Given the description of an element on the screen output the (x, y) to click on. 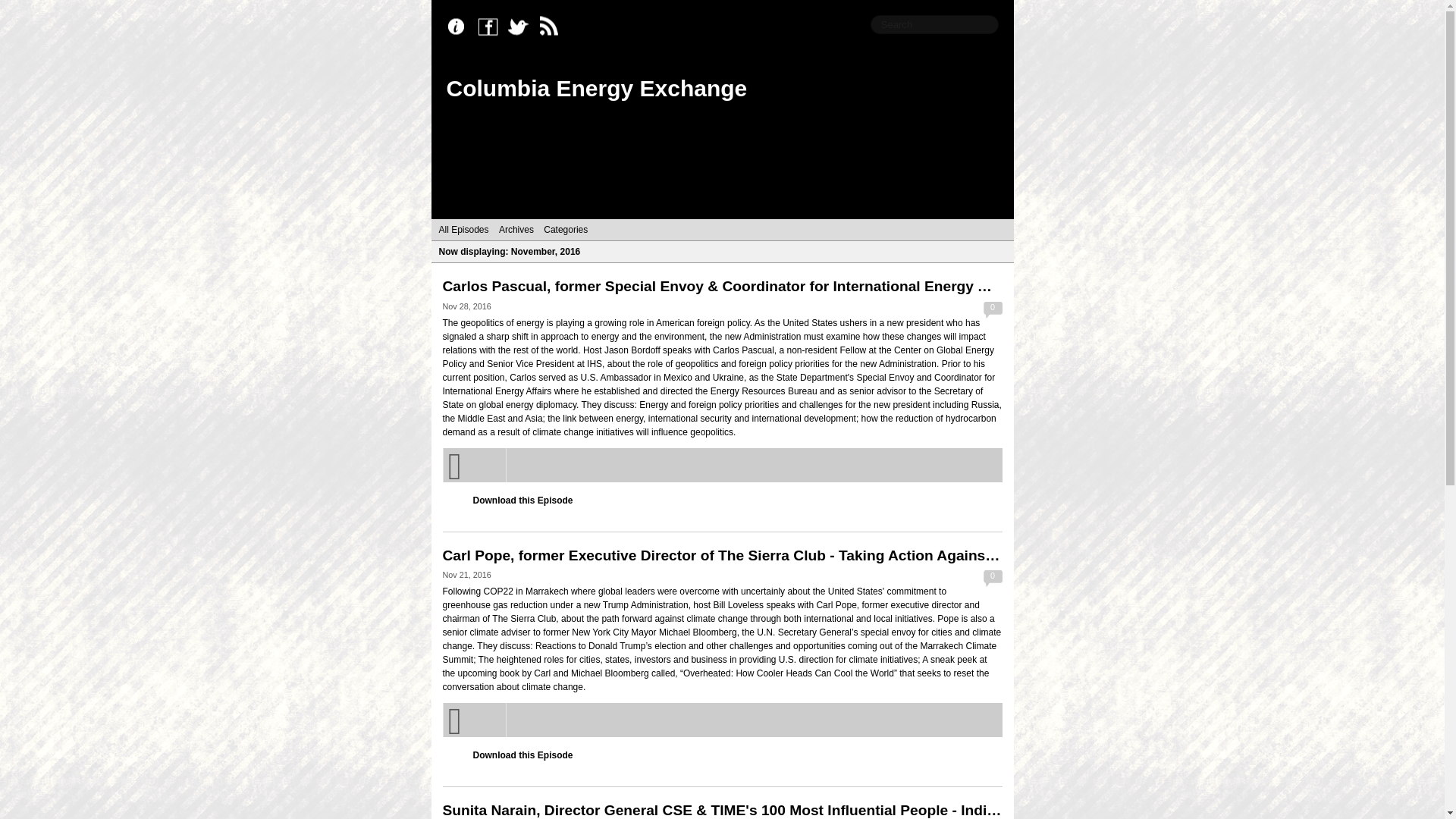
Columbia Energy Exchange (595, 88)
Facebook (491, 26)
Libsyn Player (722, 464)
Twitter (521, 26)
Libsyn Player (722, 719)
RSS Feed (552, 26)
